Given the description of an element on the screen output the (x, y) to click on. 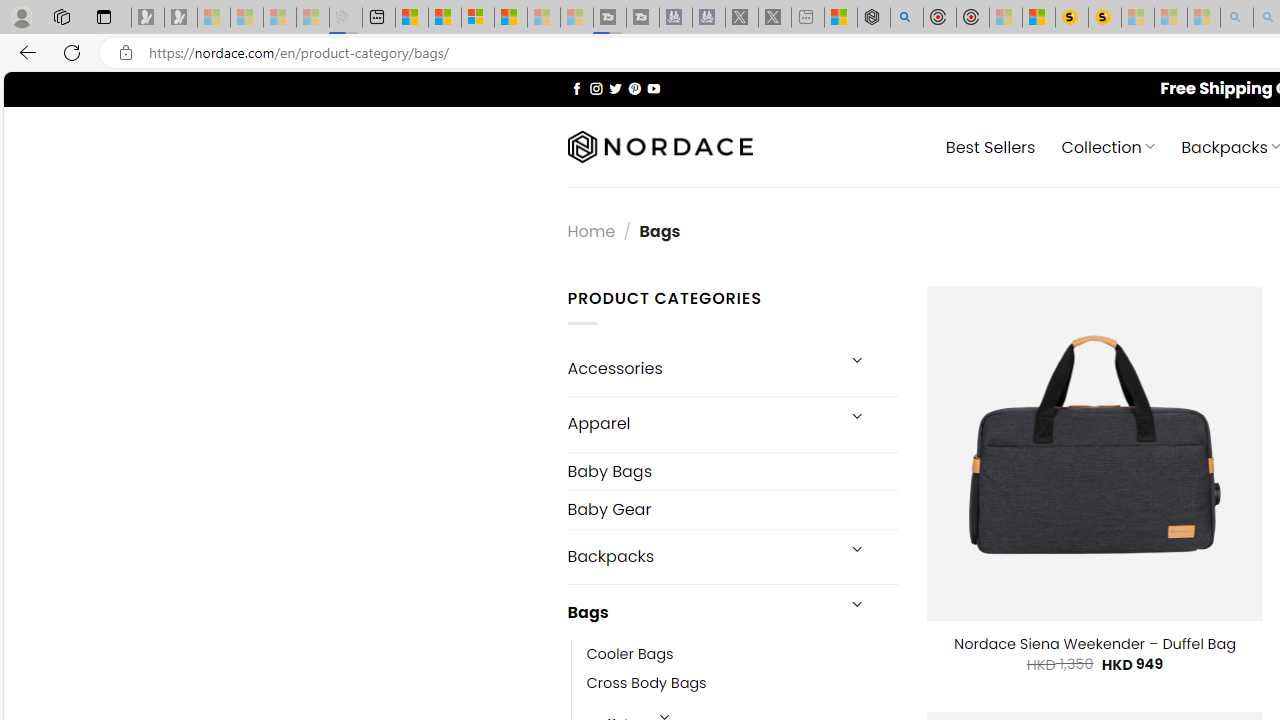
Tab actions menu (104, 16)
Backpacks (700, 556)
Accessories (700, 368)
Wildlife - MSN (841, 17)
Home (591, 230)
View site information (125, 53)
Nordace - Summer Adventures 2024 (873, 17)
  Best Sellers (989, 146)
Microsoft Start - Sleeping (543, 17)
Follow on Pinterest (634, 88)
Baby Bags (732, 471)
Follow on YouTube (653, 88)
